Given the description of an element on the screen output the (x, y) to click on. 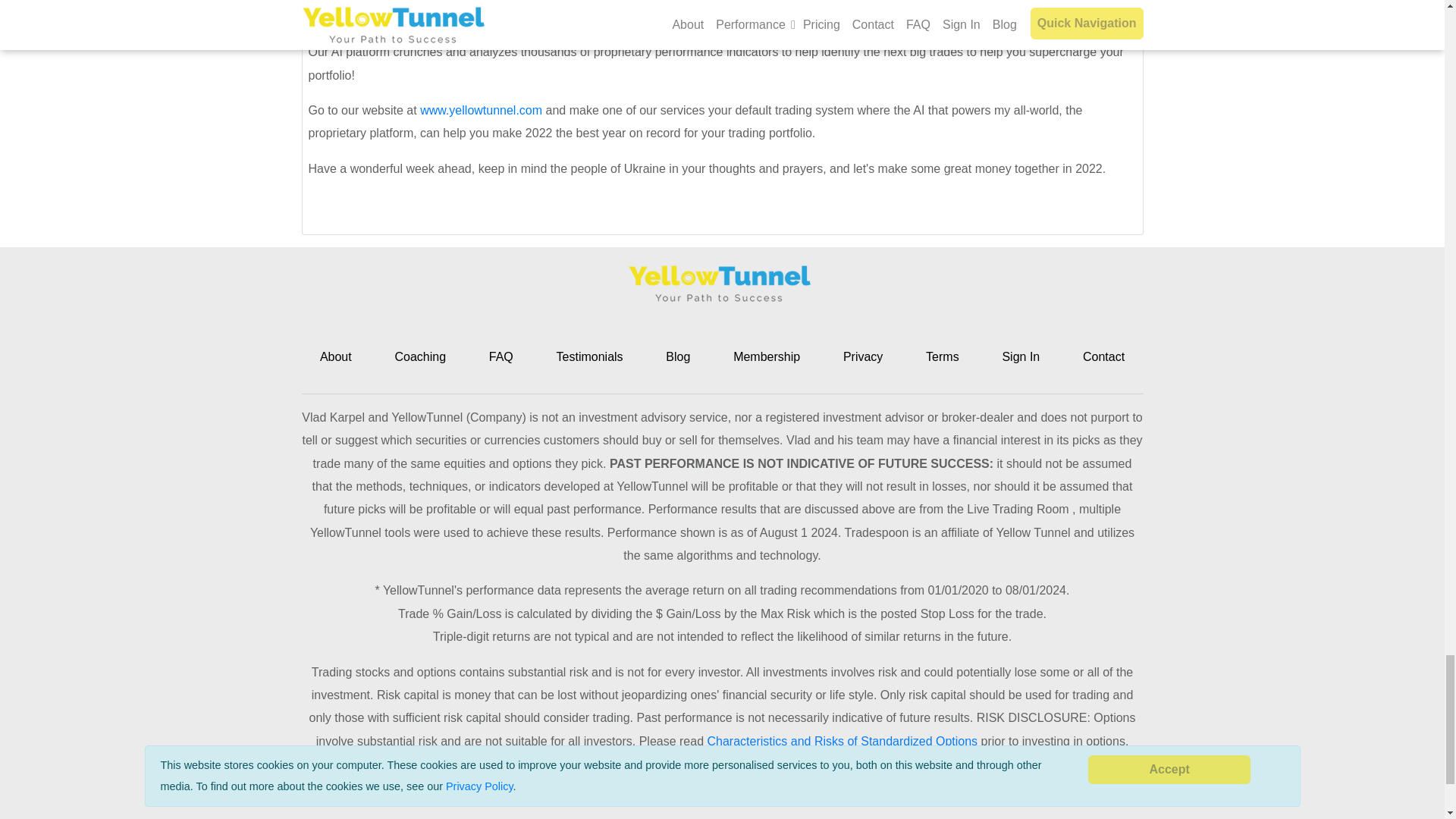
Contact (1103, 356)
Privacy (862, 356)
Characteristics and Risks of Standardized Options (841, 740)
Sign In (1020, 356)
www.yellowtunnel.com (480, 110)
Terms (942, 356)
Disclaimer (797, 799)
Testimonials (589, 356)
FAQ (501, 356)
Coaching (419, 356)
Blog (677, 356)
About (336, 356)
Membership (766, 356)
